Given the description of an element on the screen output the (x, y) to click on. 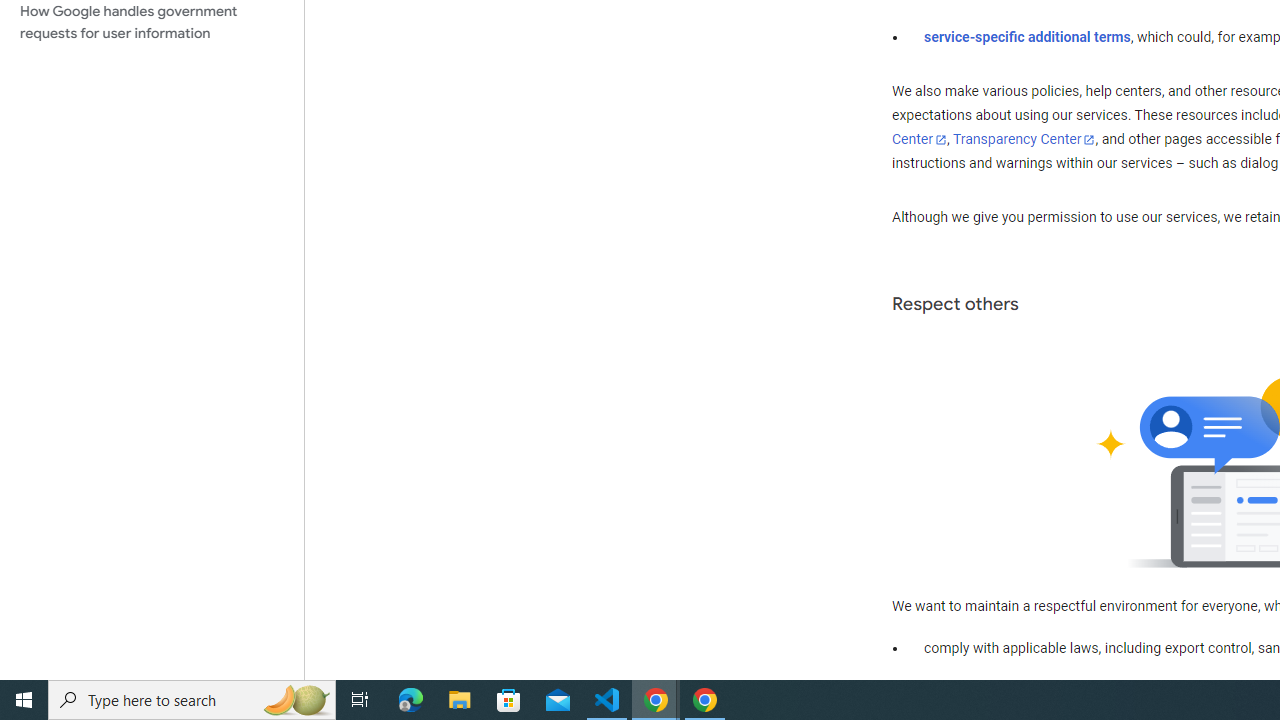
service-specific additional terms (1027, 37)
Transparency Center (1023, 140)
